Given the description of an element on the screen output the (x, y) to click on. 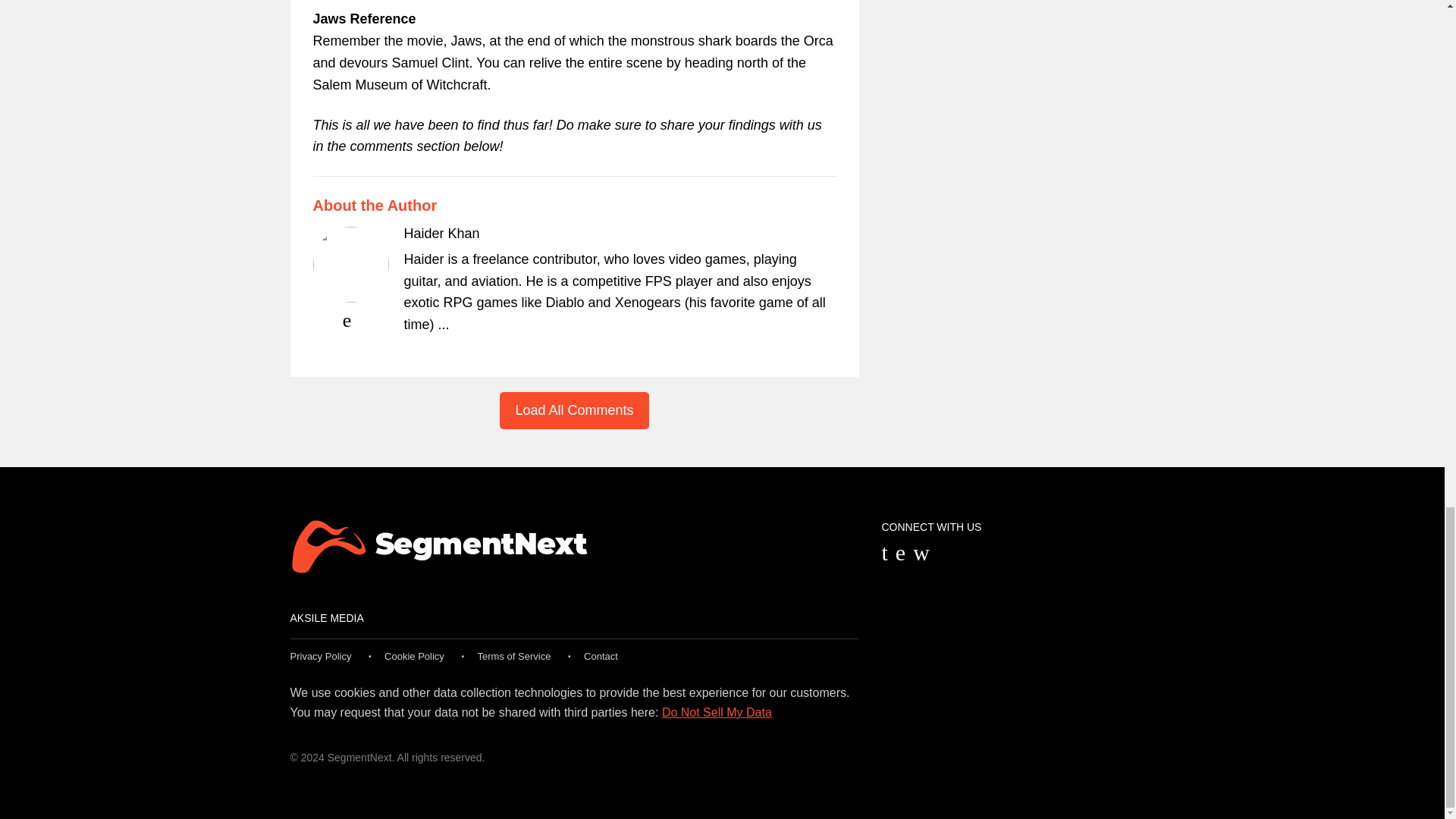
Cookie Policy (414, 655)
Load All Comments (573, 410)
Privacy Policy (319, 655)
Haider Khan (441, 233)
Haider Khan (441, 233)
